Given the description of an element on the screen output the (x, y) to click on. 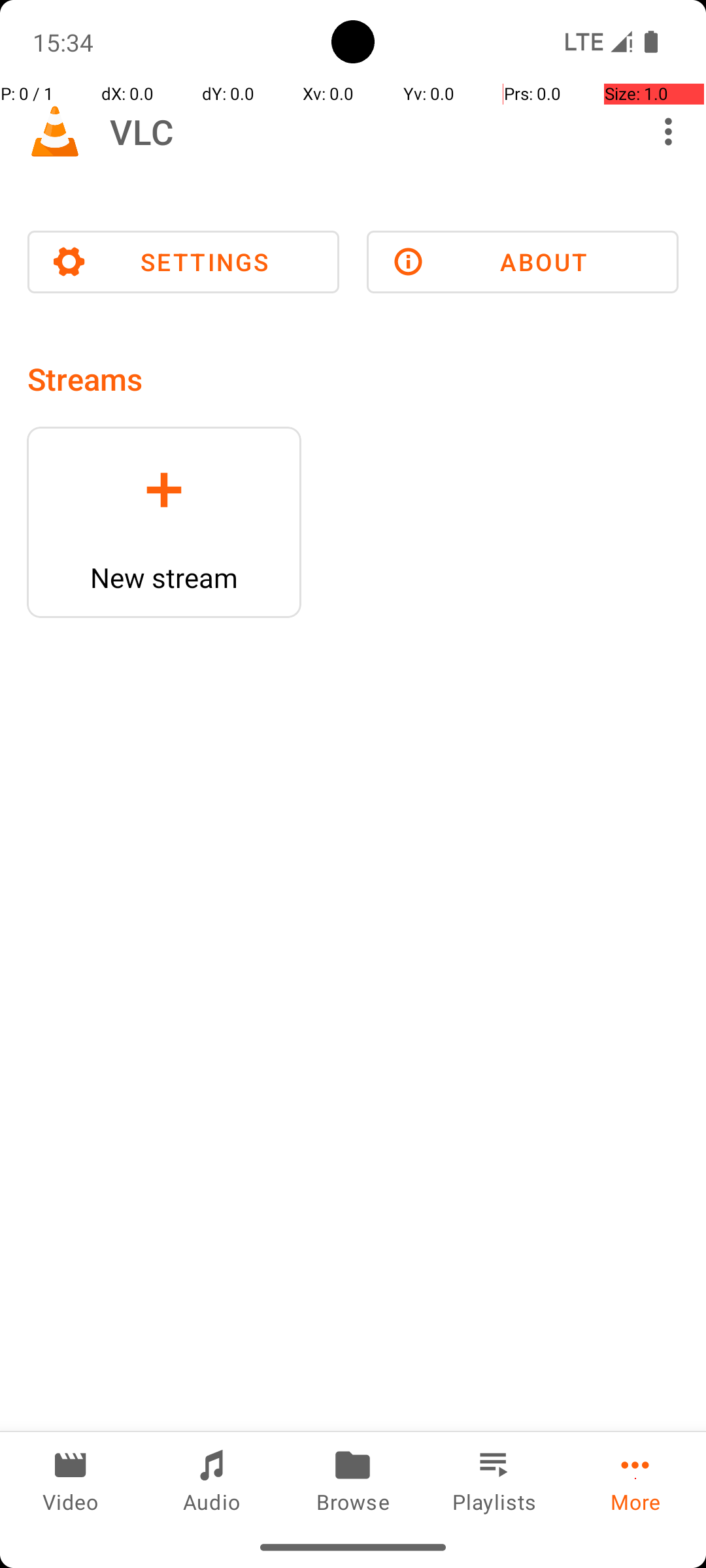
SETTINGS Element type: android.widget.Button (183, 261)
ABOUT Element type: android.widget.Button (522, 261)
Streams Element type: android.widget.TextView (84, 378)
New stream Element type: android.widget.TextView (163, 576)
